Given the description of an element on the screen output the (x, y) to click on. 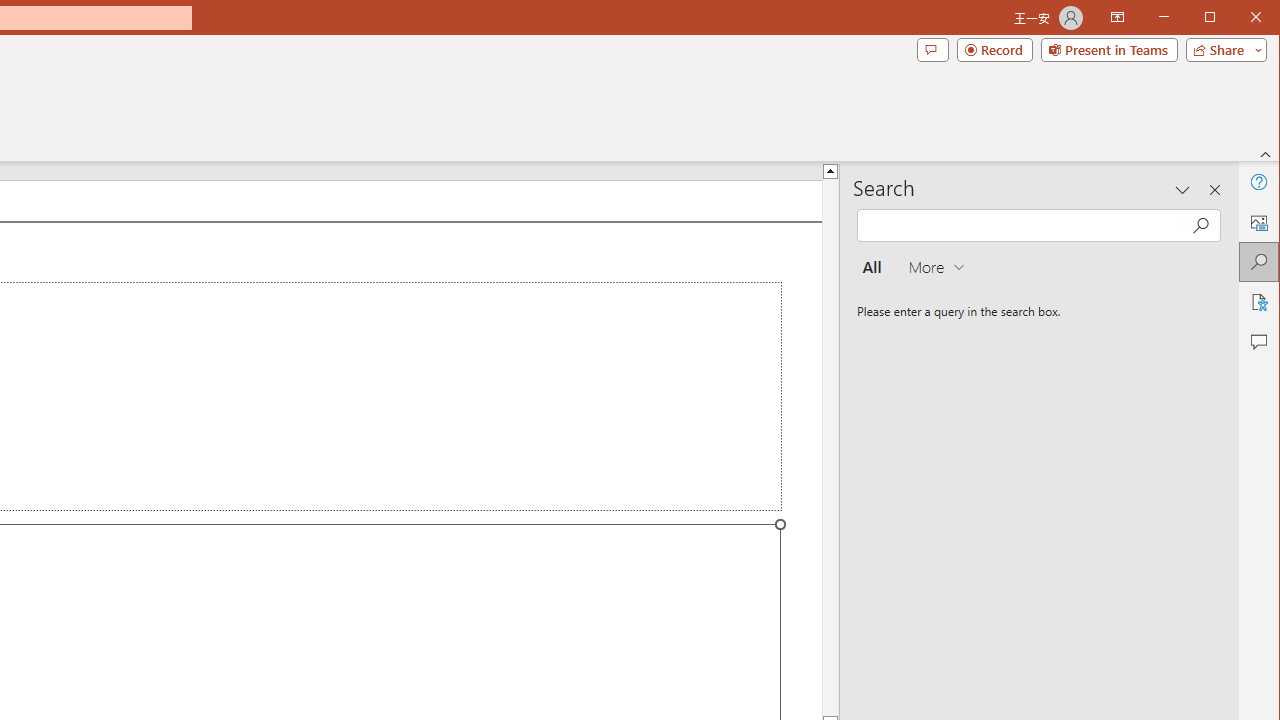
Task Pane Options (1183, 189)
